Given the description of an element on the screen output the (x, y) to click on. 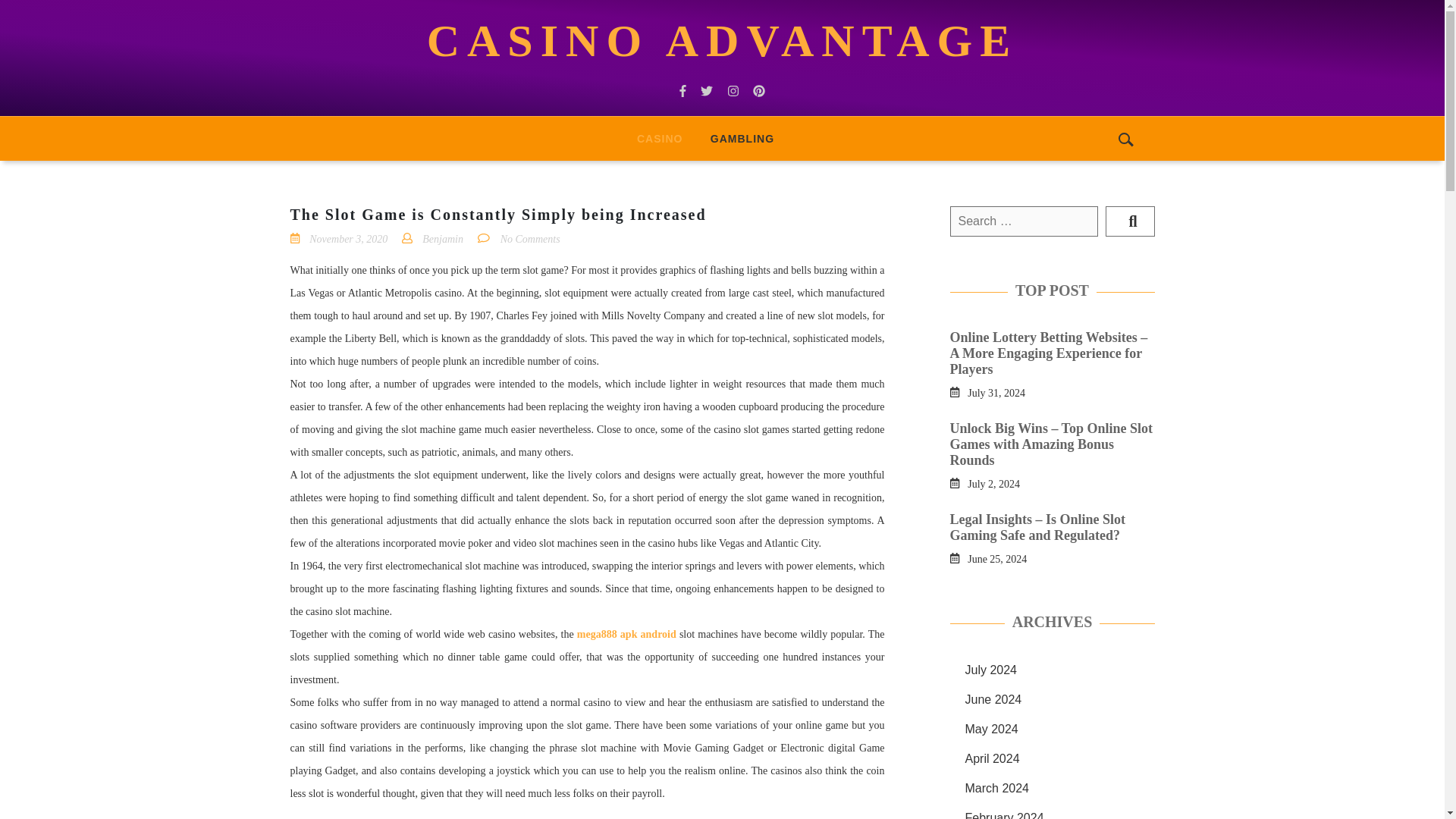
Benjamin (442, 238)
Gambling (742, 138)
No Comments (530, 238)
April 2024 (991, 758)
GAMBLING (742, 138)
Search (1129, 221)
July 2, 2024 (994, 482)
Casino (659, 138)
June 2024 (992, 698)
February 2024 (1003, 815)
March 2024 (996, 788)
June 25, 2024 (997, 558)
CASINO ADVANTAGE (721, 40)
CASINO (659, 138)
mega888 apk android (626, 633)
